Given the description of an element on the screen output the (x, y) to click on. 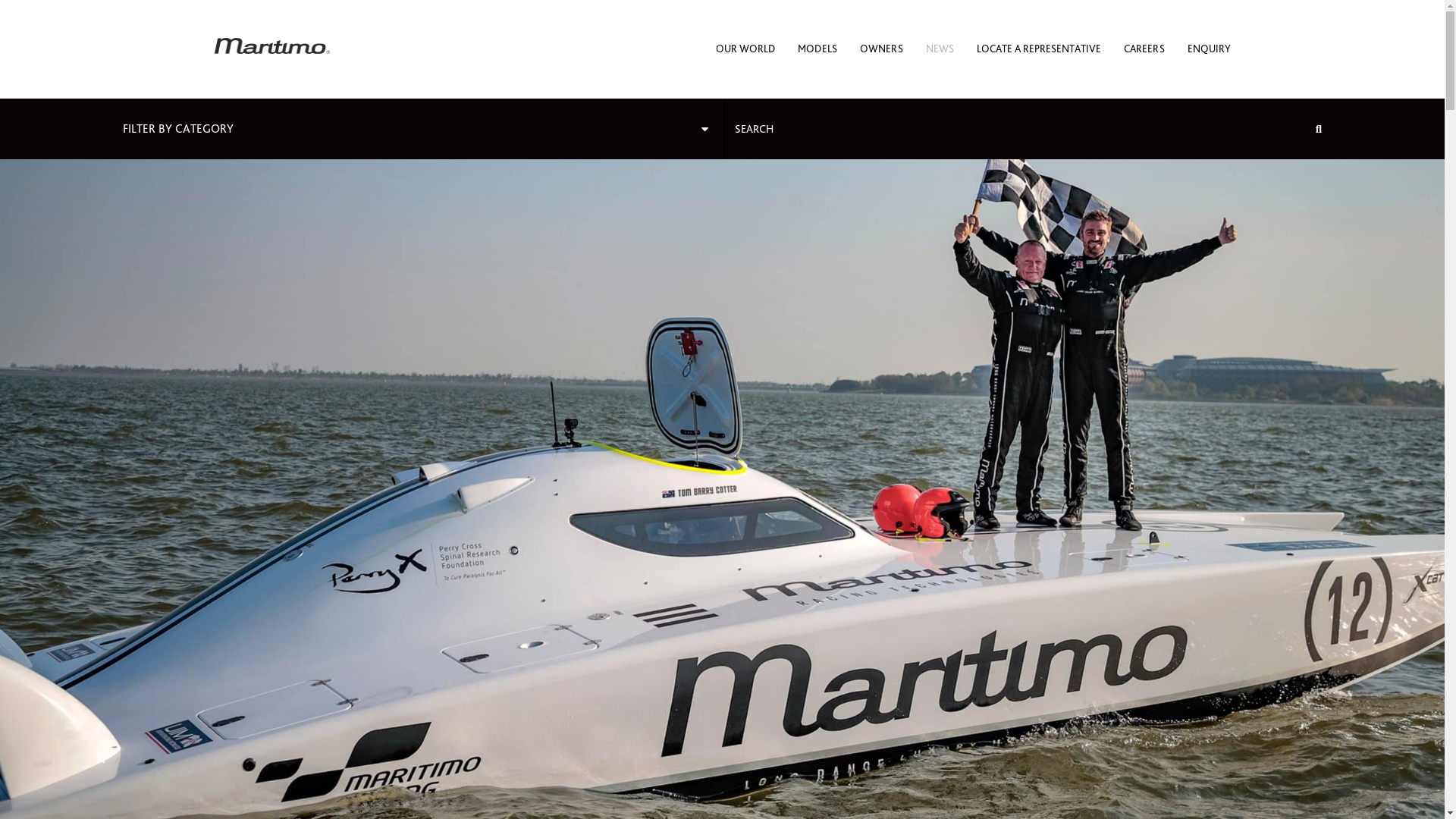
NEWS Element type: text (939, 48)
LOCATE A REPRESENTATIVE Element type: text (1038, 48)
OUR WORLD Element type: text (745, 48)
MODELS Element type: text (817, 48)
OWNERS Element type: text (881, 48)
CAREERS Element type: text (1143, 48)
ENQUIRY Element type: text (1208, 48)
FILTER BY CATEGORY Element type: text (422, 128)
